Given the description of an element on the screen output the (x, y) to click on. 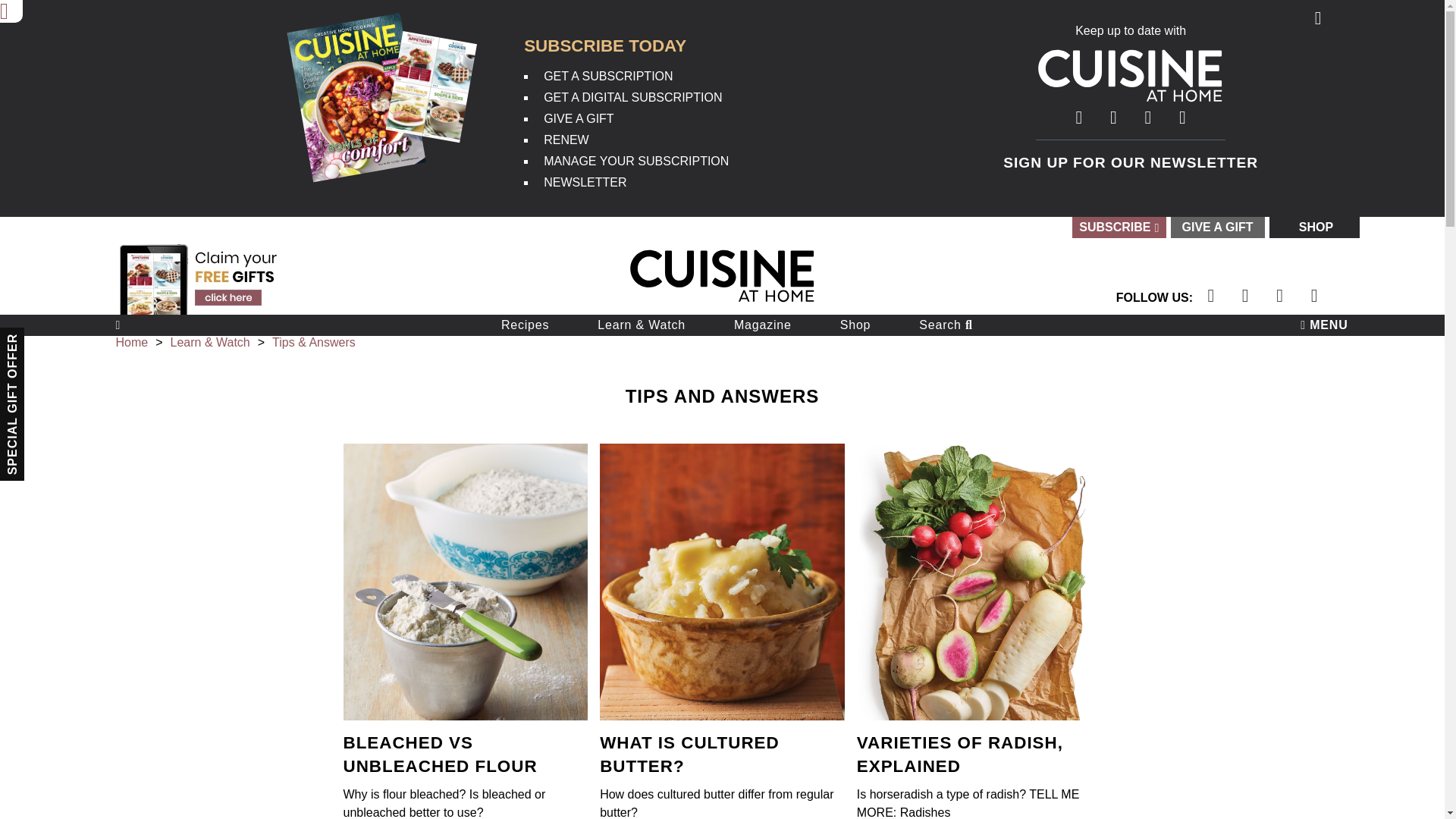
NEWSLETTER (584, 182)
GET A DIGITAL SUBSCRIPTION (632, 97)
SHOP (1315, 227)
Menu (1324, 324)
Cuisine at Home (721, 299)
Toggle Dropdown Header (1117, 227)
CSN Digital Covers (386, 67)
Recipes (525, 324)
GIVE A GIFT (1217, 227)
GET A SUBSCRIPTION (607, 75)
Accessibility Settings (11, 11)
SIGN UP FOR OUR NEWSLETTER (1130, 162)
RENEW (566, 139)
MANAGE YOUR SUBSCRIPTION (636, 160)
CSN Header Free Gifts (198, 276)
